Given the description of an element on the screen output the (x, y) to click on. 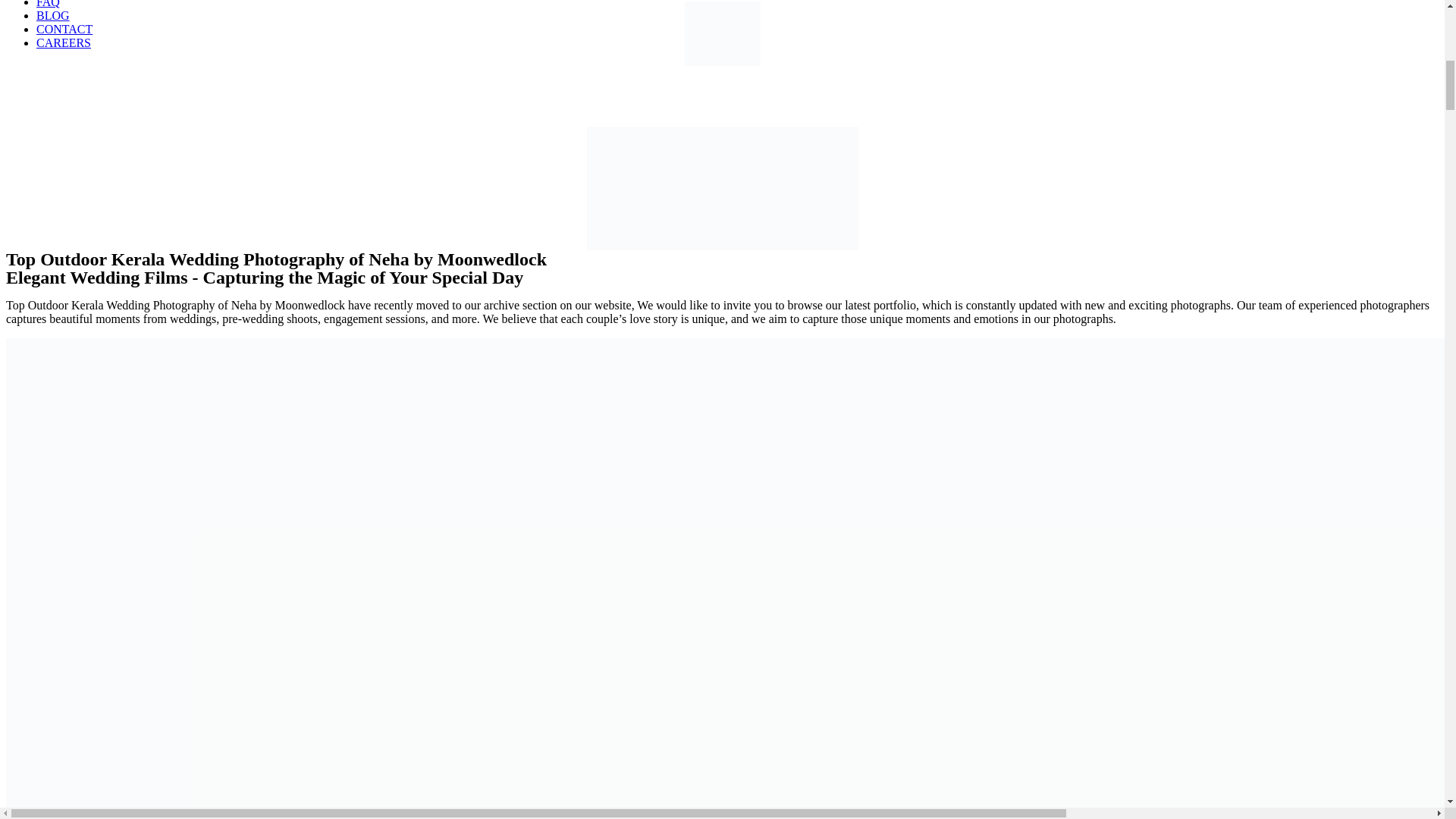
FAQ (47, 4)
BLOG (52, 15)
CAREERS (63, 42)
CONTACT (64, 29)
